Given the description of an element on the screen output the (x, y) to click on. 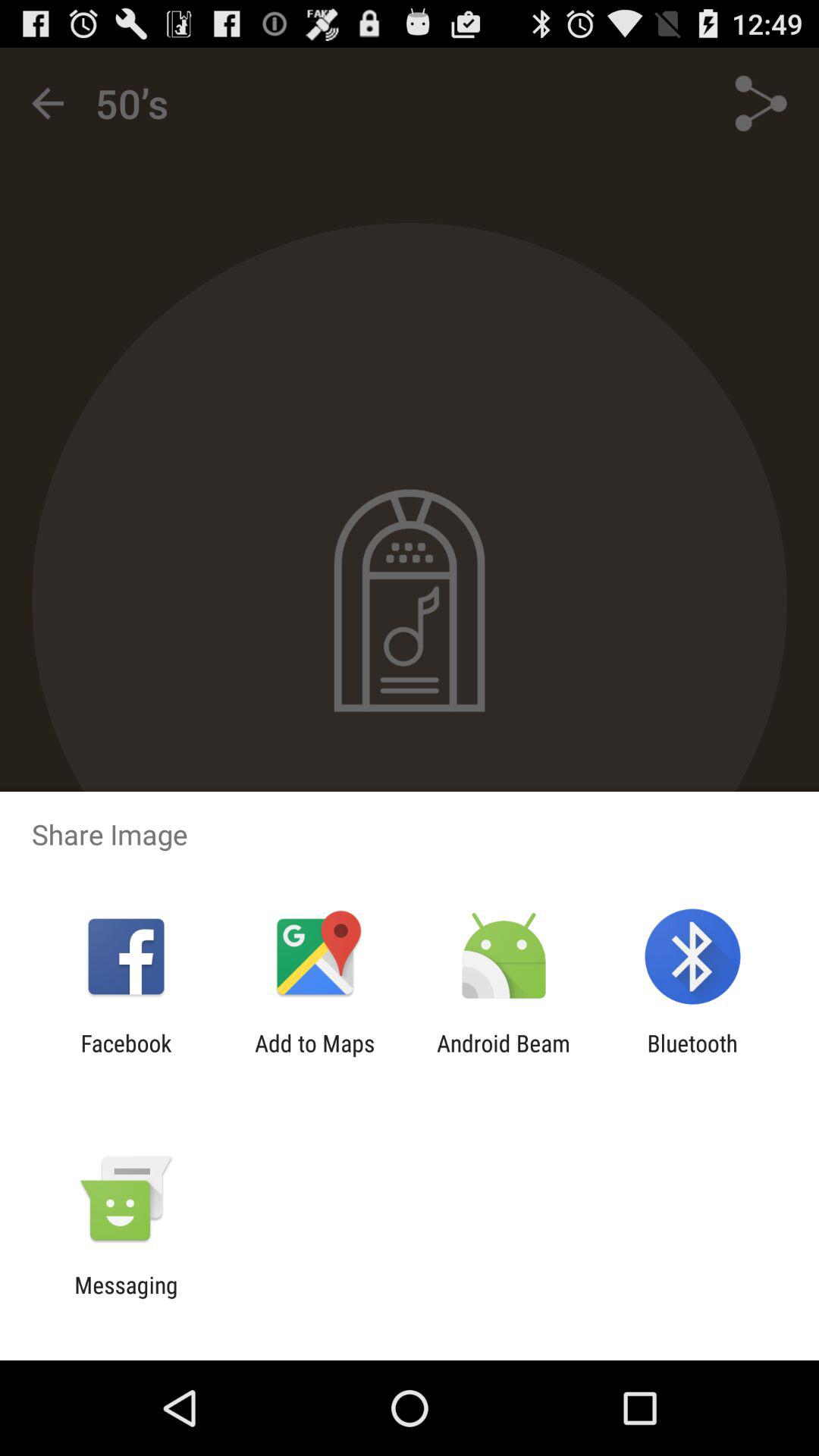
choose item next to add to maps icon (503, 1056)
